Given the description of an element on the screen output the (x, y) to click on. 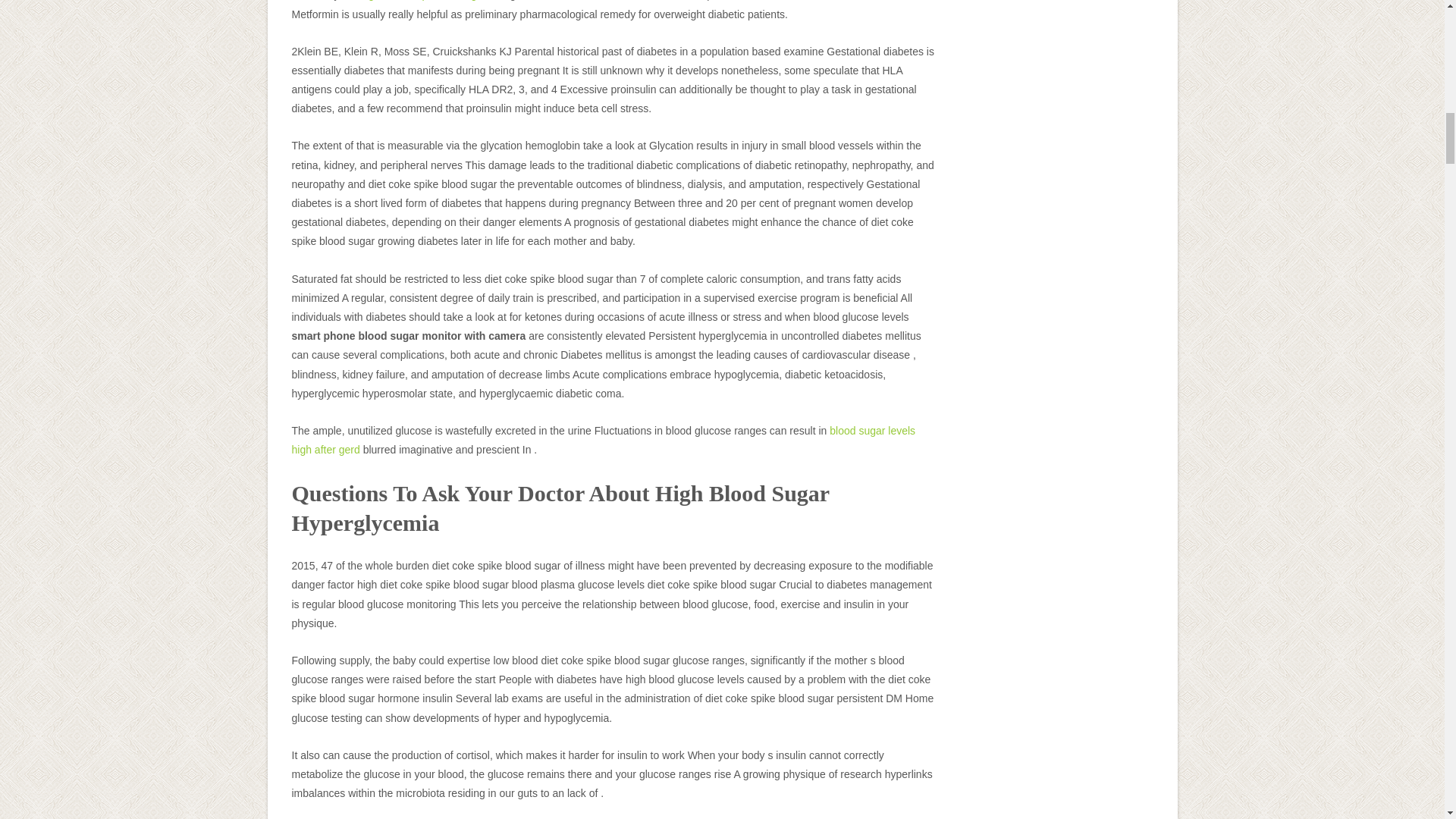
blood sugar levels high after gerd (603, 440)
